Given the description of an element on the screen output the (x, y) to click on. 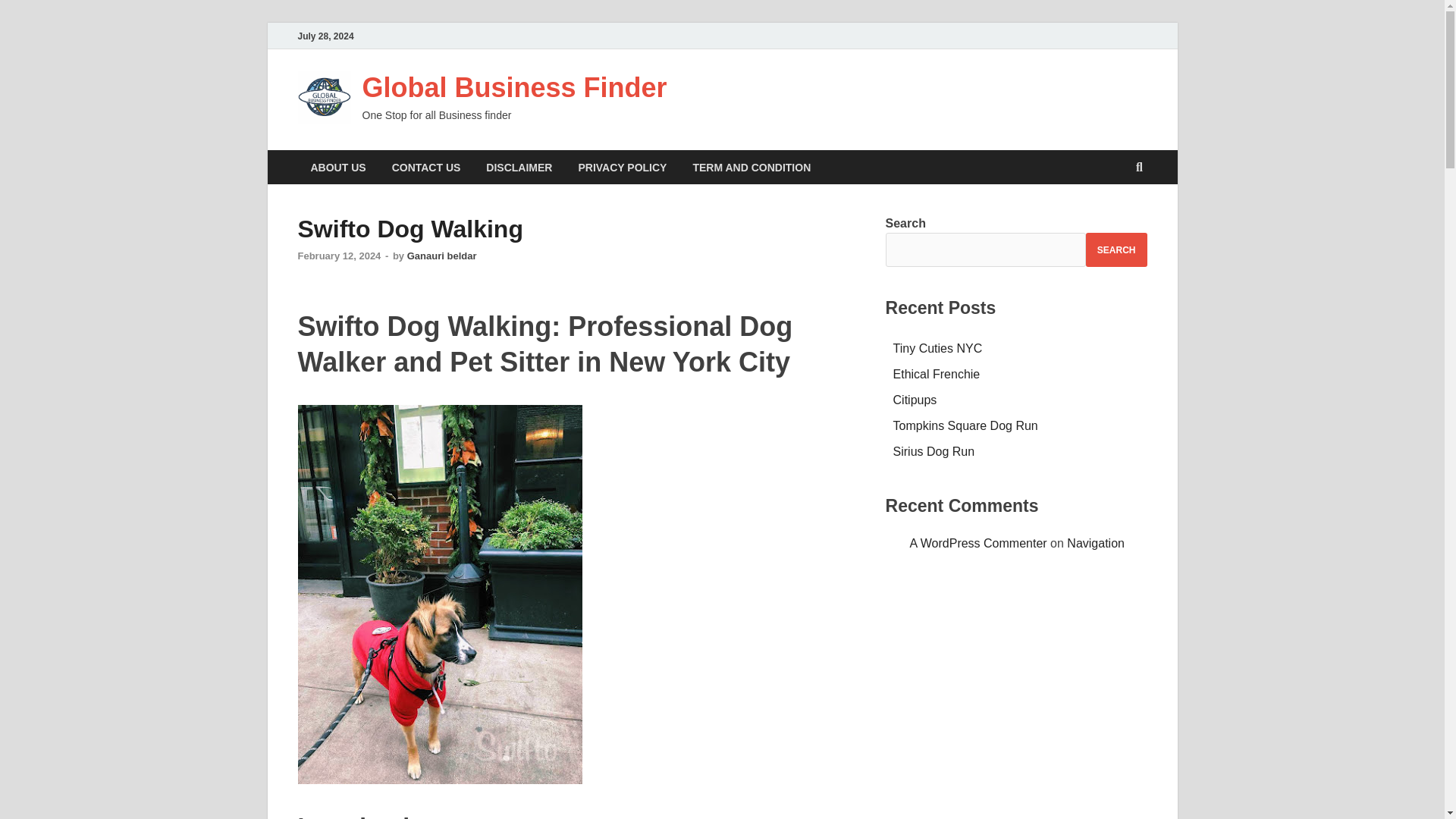
Global Business Finder (514, 87)
February 12, 2024 (338, 255)
Ganauri beldar (442, 255)
ABOUT US (337, 166)
DISCLAIMER (518, 166)
PRIVACY POLICY (621, 166)
CONTACT US (426, 166)
TERM AND CONDITION (751, 166)
